Given the description of an element on the screen output the (x, y) to click on. 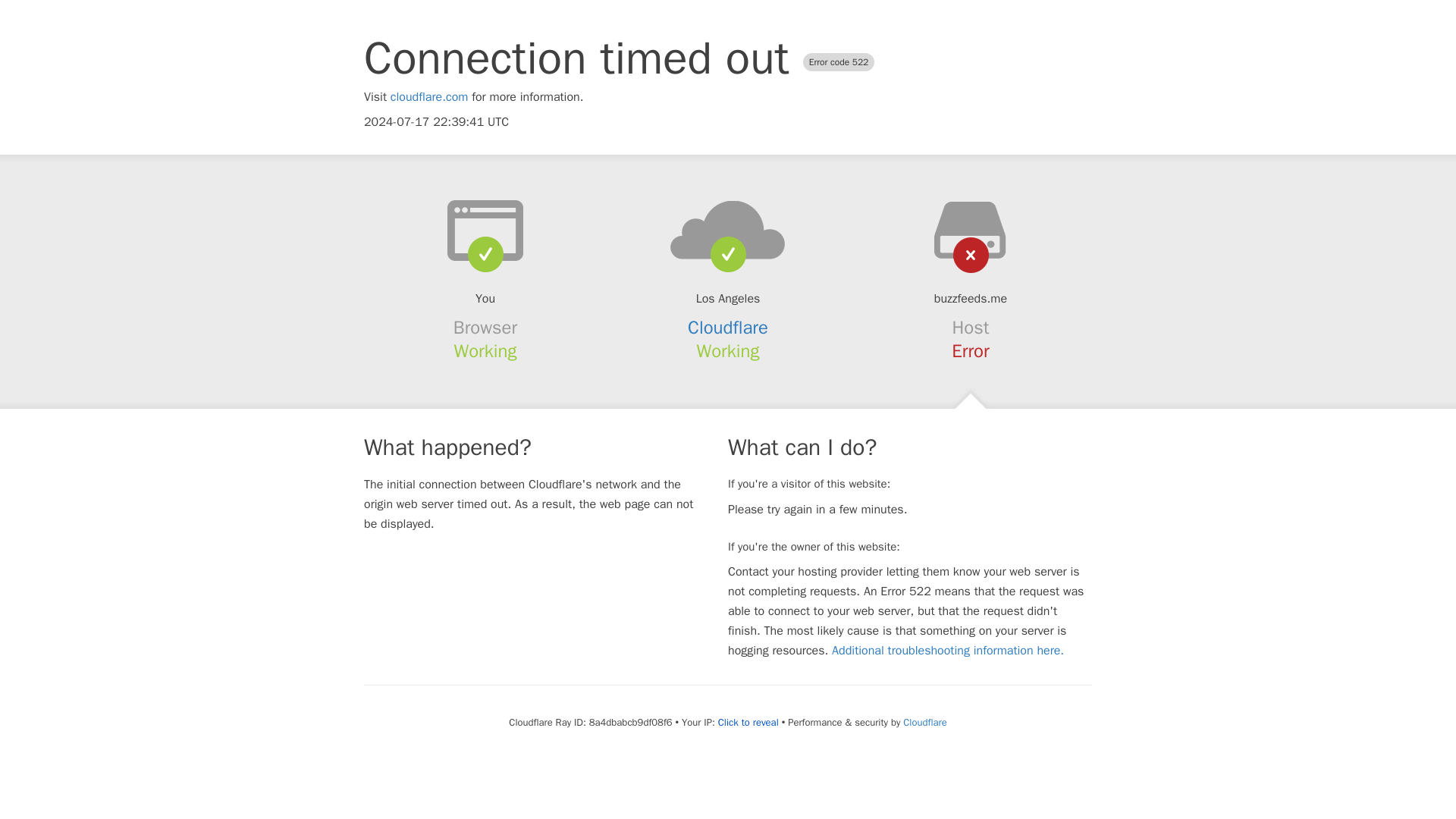
Cloudflare (727, 327)
Cloudflare (924, 721)
cloudflare.com (429, 96)
Additional troubleshooting information here. (947, 650)
Click to reveal (747, 722)
